Given the description of an element on the screen output the (x, y) to click on. 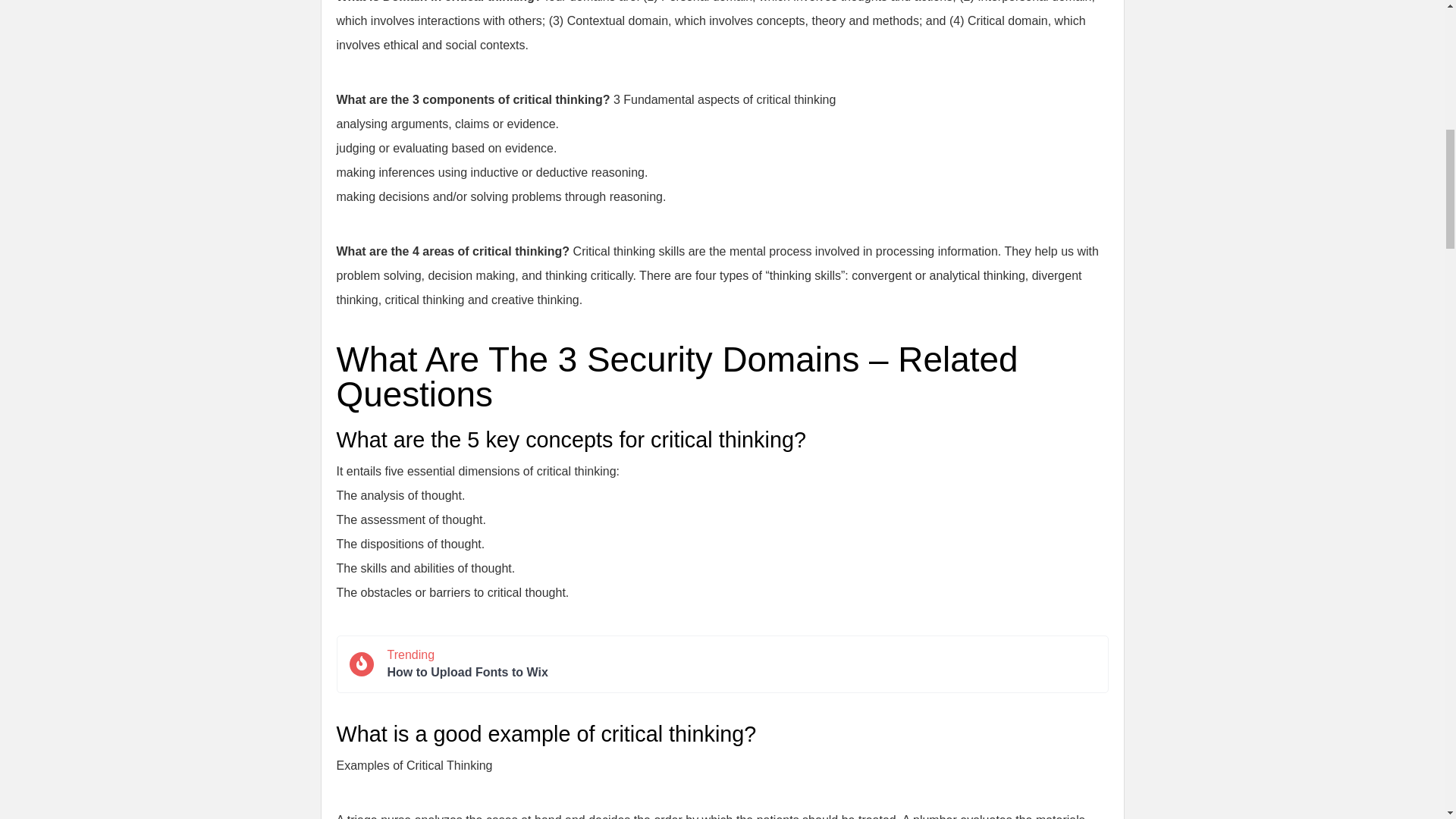
How to Upload Fonts to Wix (740, 672)
